Given the description of an element on the screen output the (x, y) to click on. 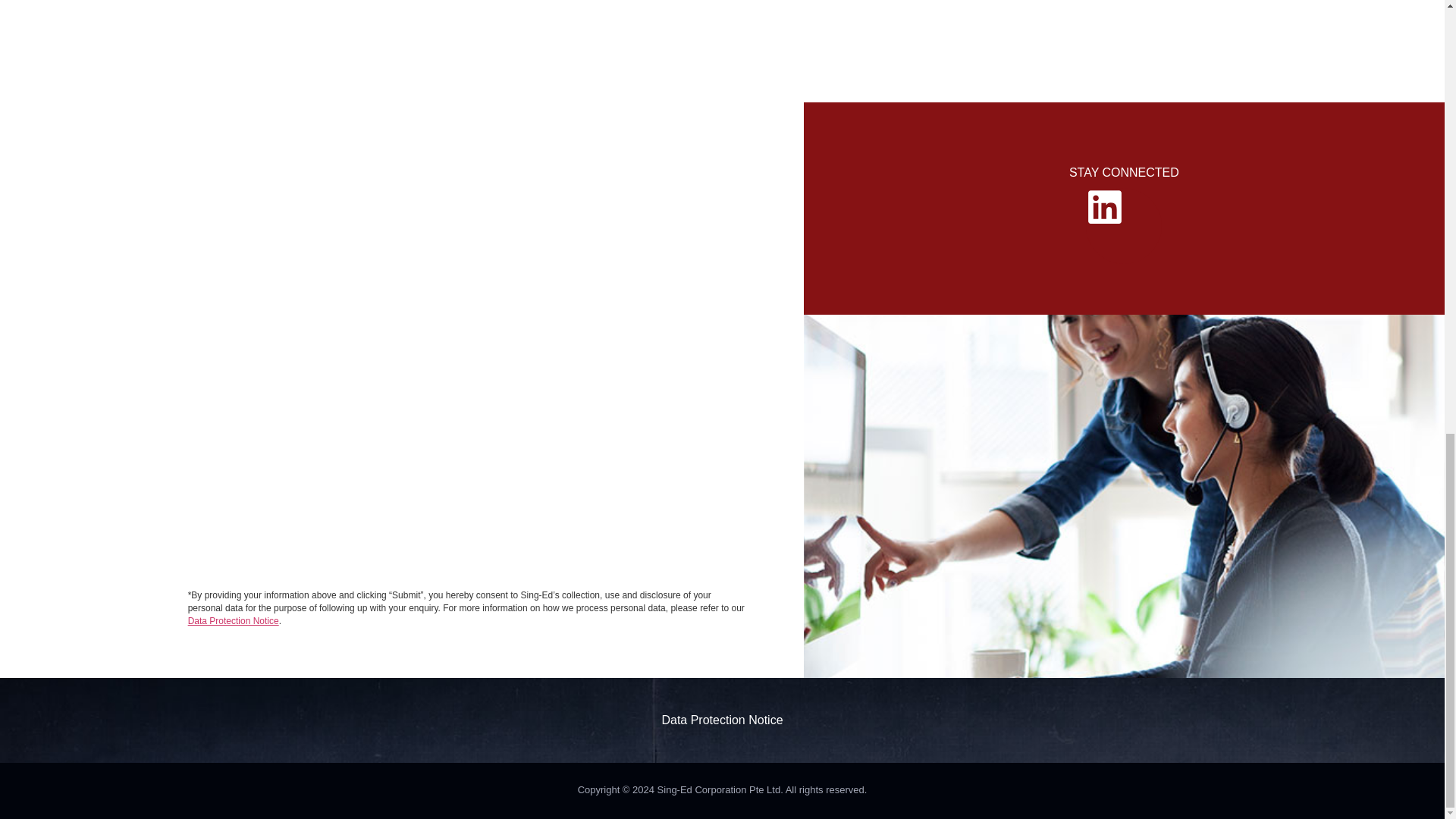
Data Protection Notice (233, 620)
Data Protection Notice (722, 719)
